Given the description of an element on the screen output the (x, y) to click on. 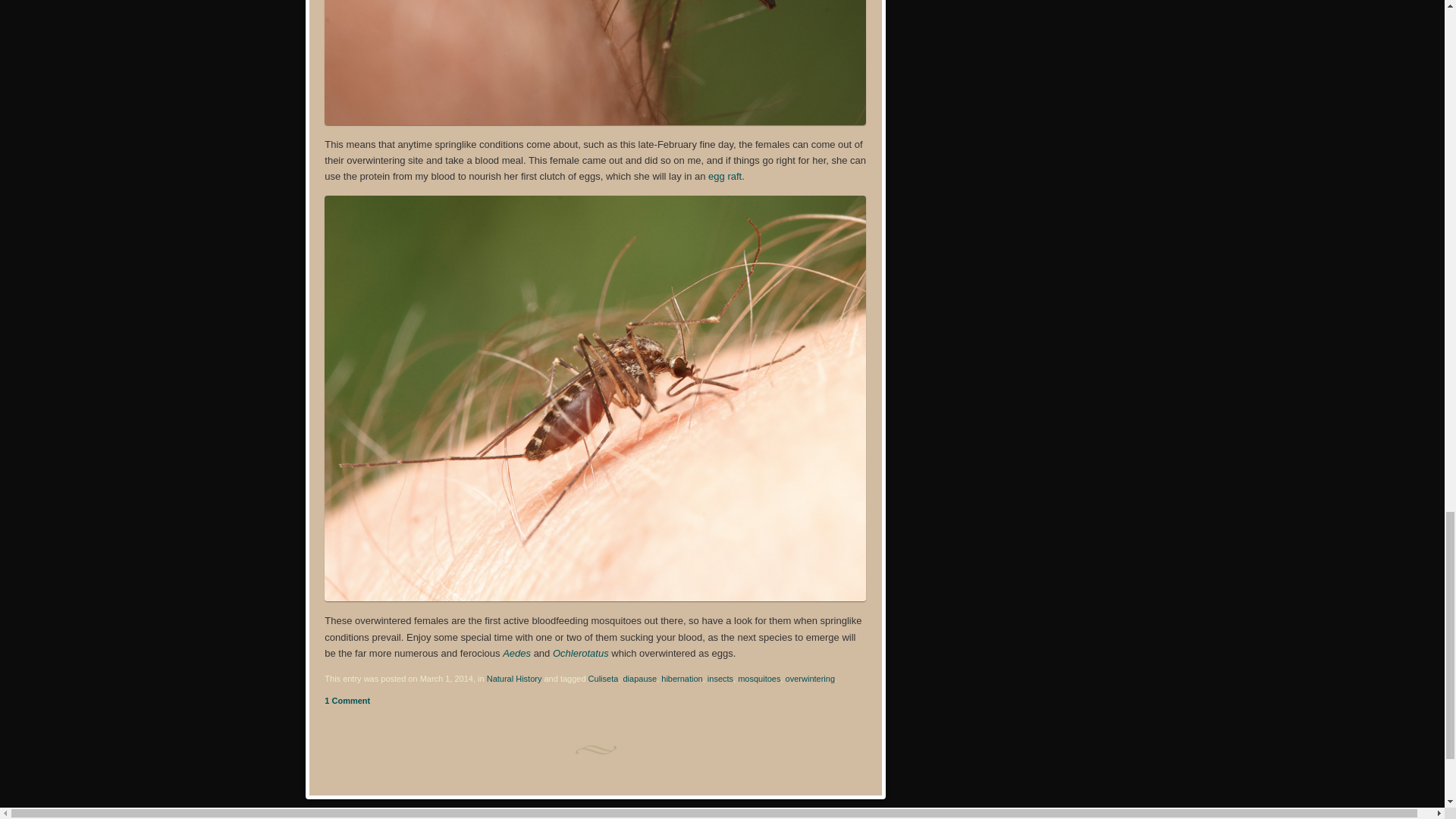
mosquitoes (759, 678)
egg raft (724, 175)
1 Comment (346, 700)
insects (720, 678)
hibernation (681, 678)
Culiseta (603, 678)
Natural History (513, 678)
overwintering (810, 678)
Ochlerotatus (580, 653)
diapause (639, 678)
Aedes (516, 653)
